Given the description of an element on the screen output the (x, y) to click on. 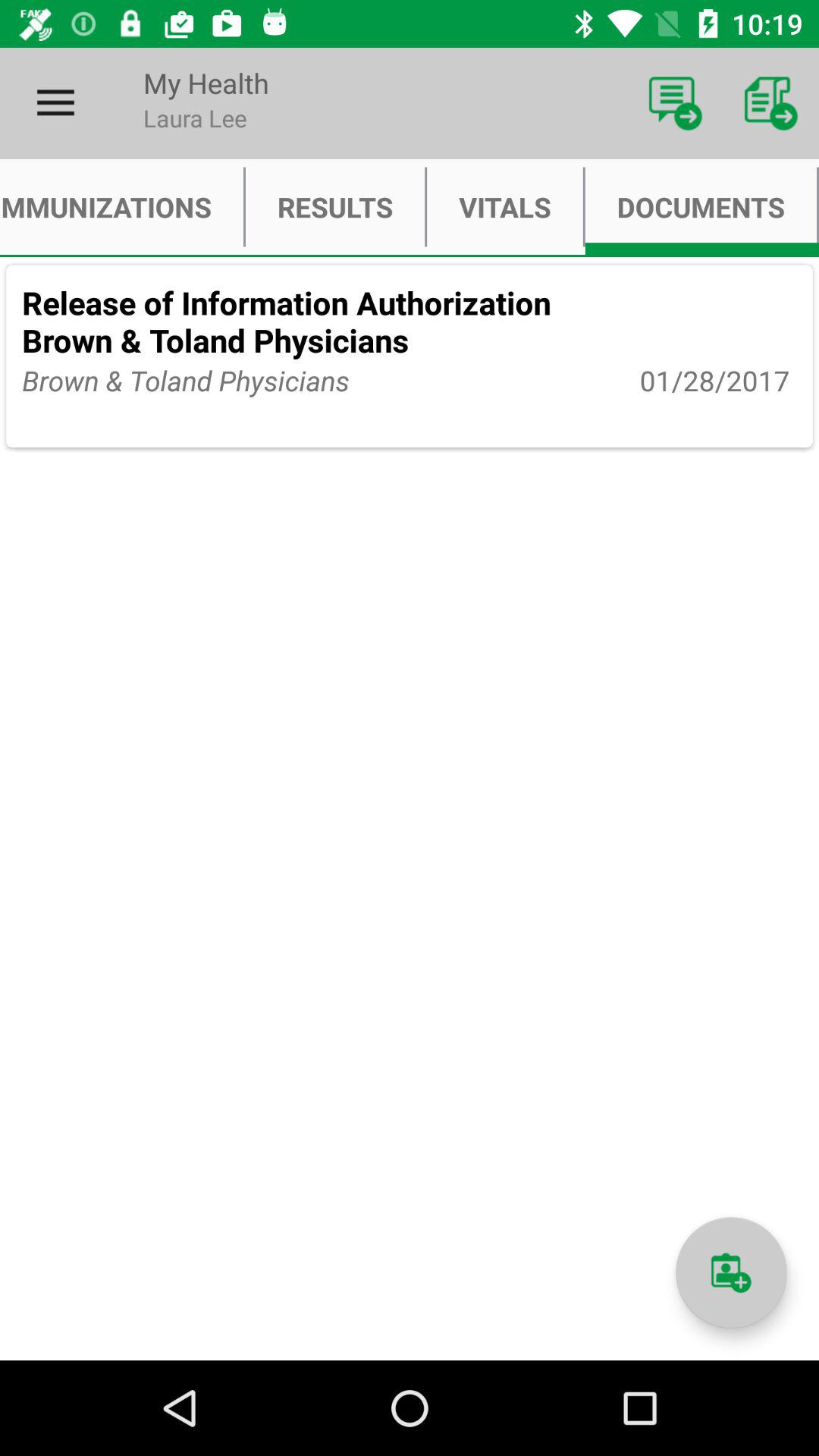
choose the item to the left of the my health (55, 103)
